Given the description of an element on the screen output the (x, y) to click on. 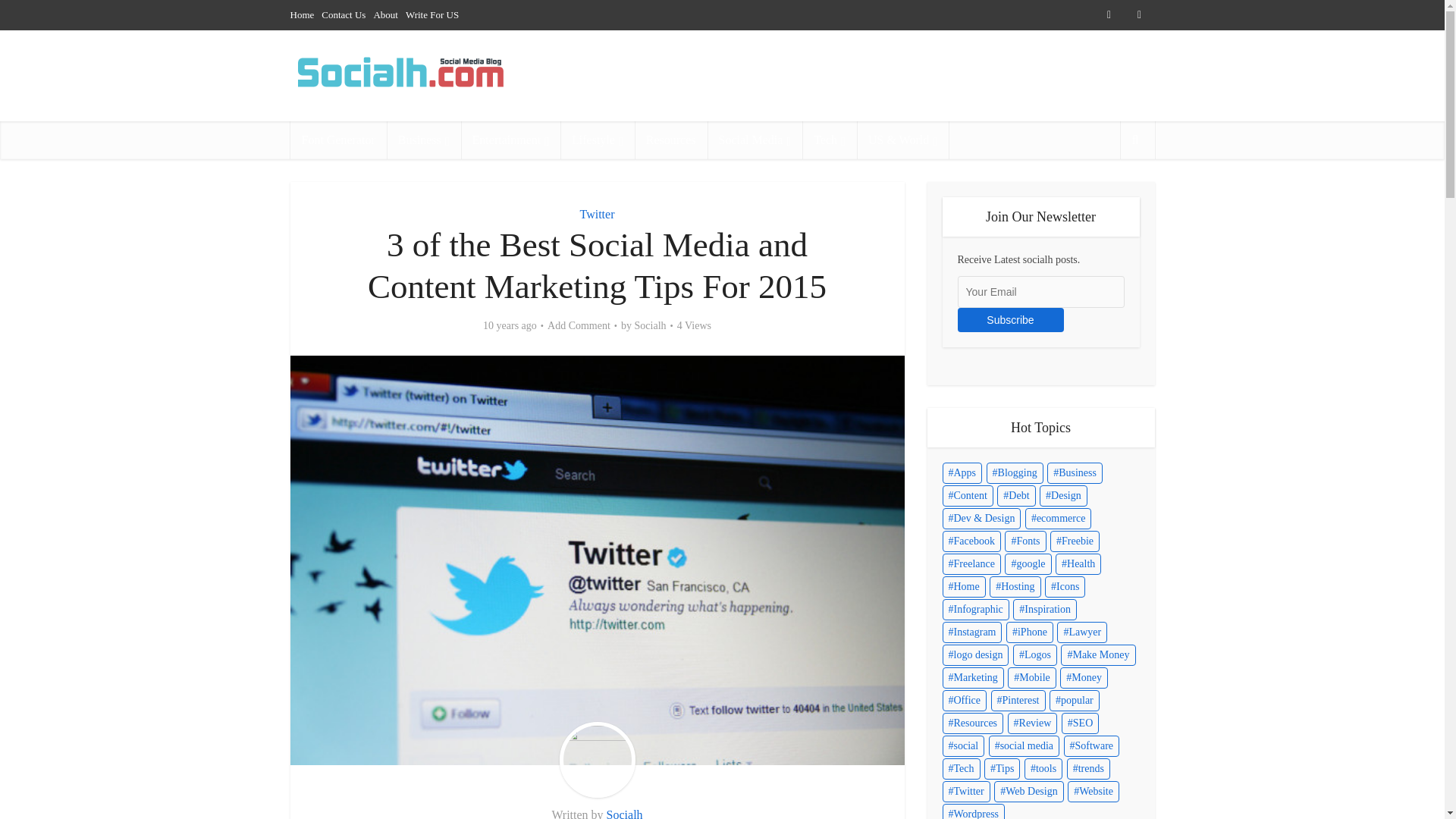
About (384, 14)
Font Generator (337, 139)
Entertainment (510, 139)
Resources (670, 139)
Tech (829, 139)
Social Media (755, 139)
Lifestyle (597, 139)
Contact Us (343, 14)
Subscribe (1009, 319)
Write For US (432, 14)
Home (301, 14)
Business (424, 139)
